Given the description of an element on the screen output the (x, y) to click on. 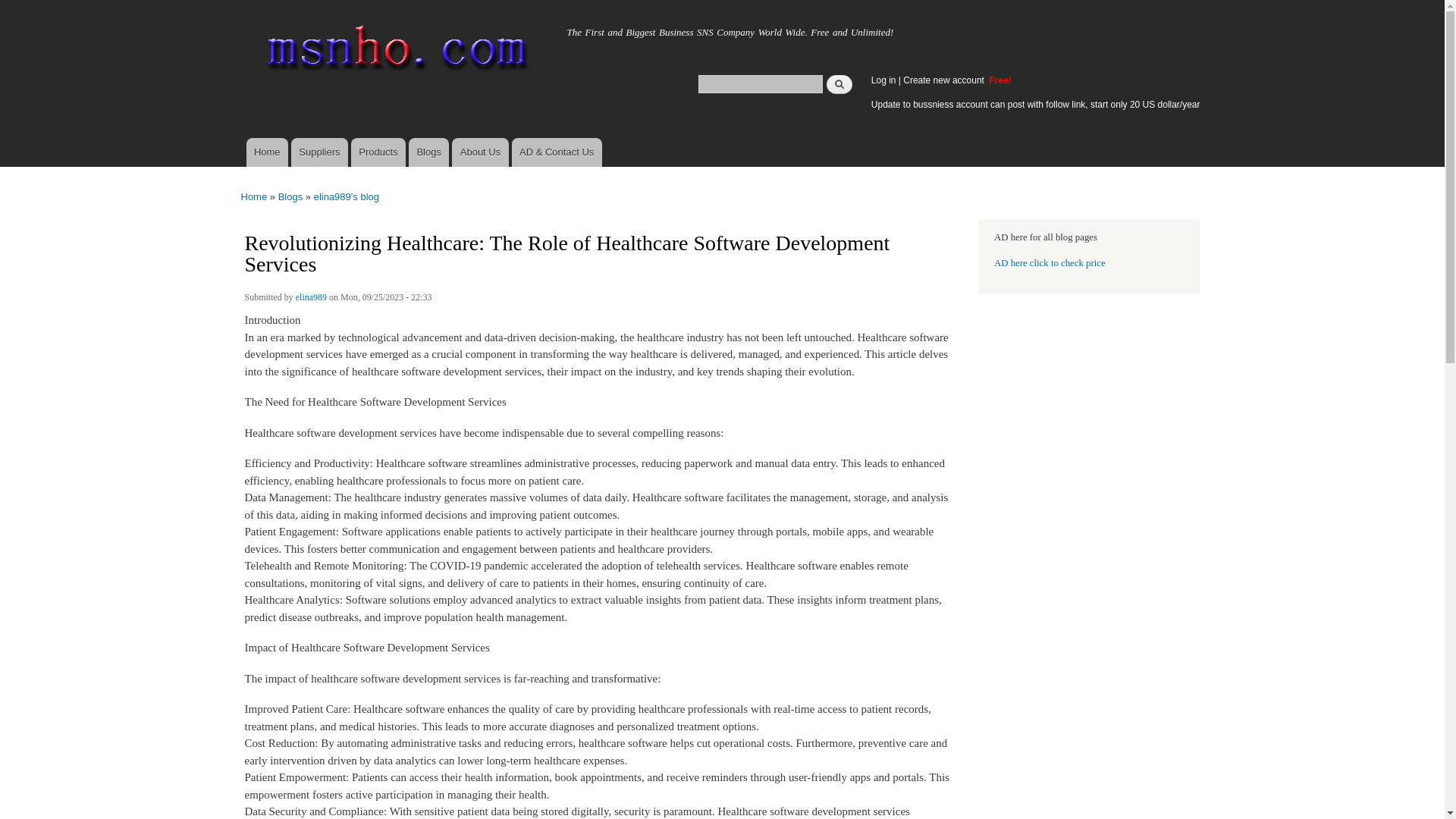
Home (282, 28)
Enter the terms you wish to search for. (760, 83)
Products,if need post product, contact to our AD department (378, 152)
About us (479, 152)
About Us (479, 152)
Suppliers (319, 152)
AD here click to check price (1049, 262)
Home (254, 196)
Products (378, 152)
Blogs (428, 152)
Search (839, 83)
elina989 (310, 298)
Skip to main content (690, 1)
Log in (883, 79)
